Given the description of an element on the screen output the (x, y) to click on. 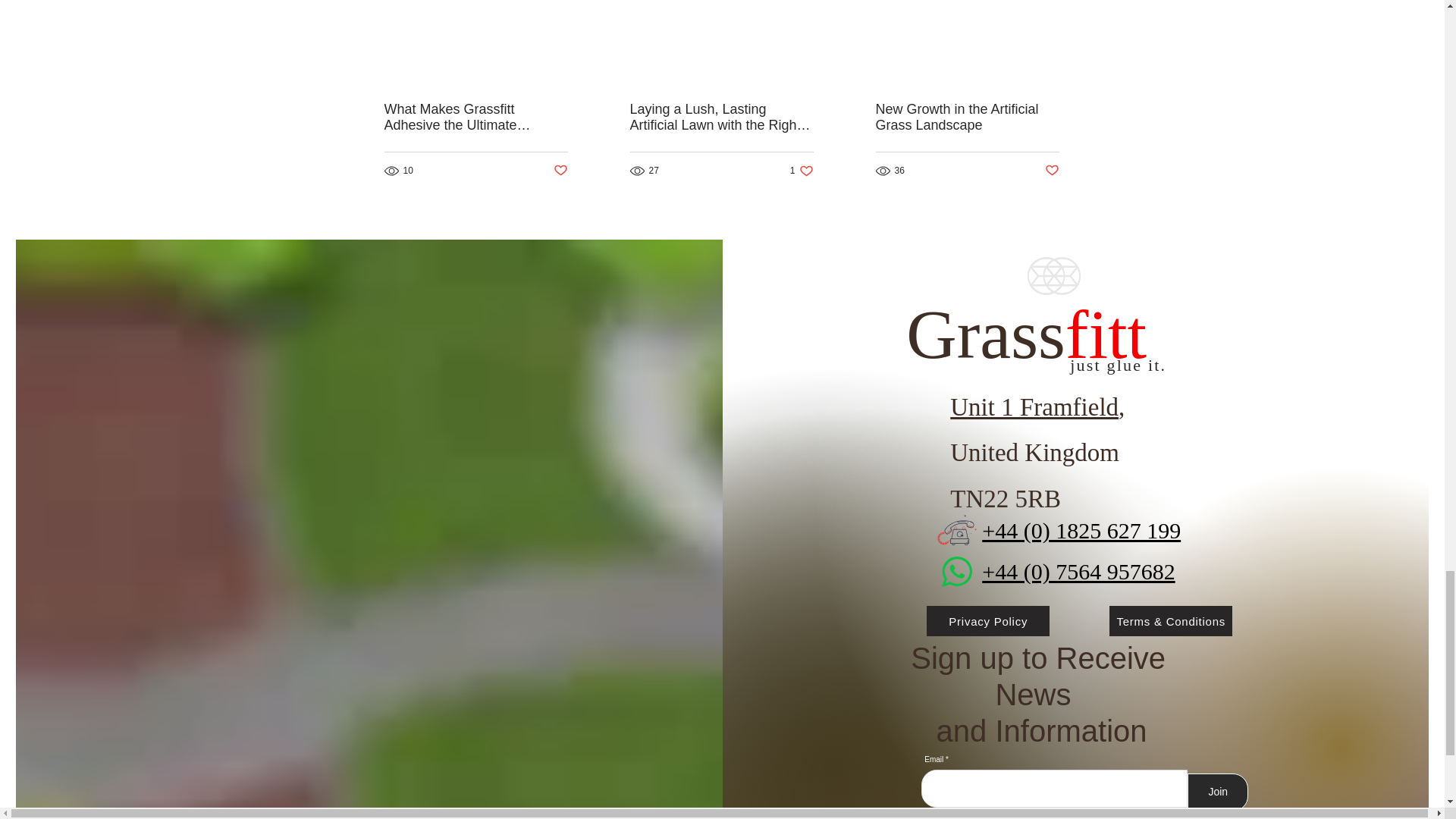
Post not marked as liked (560, 170)
Unit 1 Framfield (1034, 406)
Grassfitt (1026, 334)
New Growth in the Artificial Grass Landscape (966, 117)
just glue it. (801, 170)
Post not marked as liked (1118, 364)
Join (1052, 170)
